Given the description of an element on the screen output the (x, y) to click on. 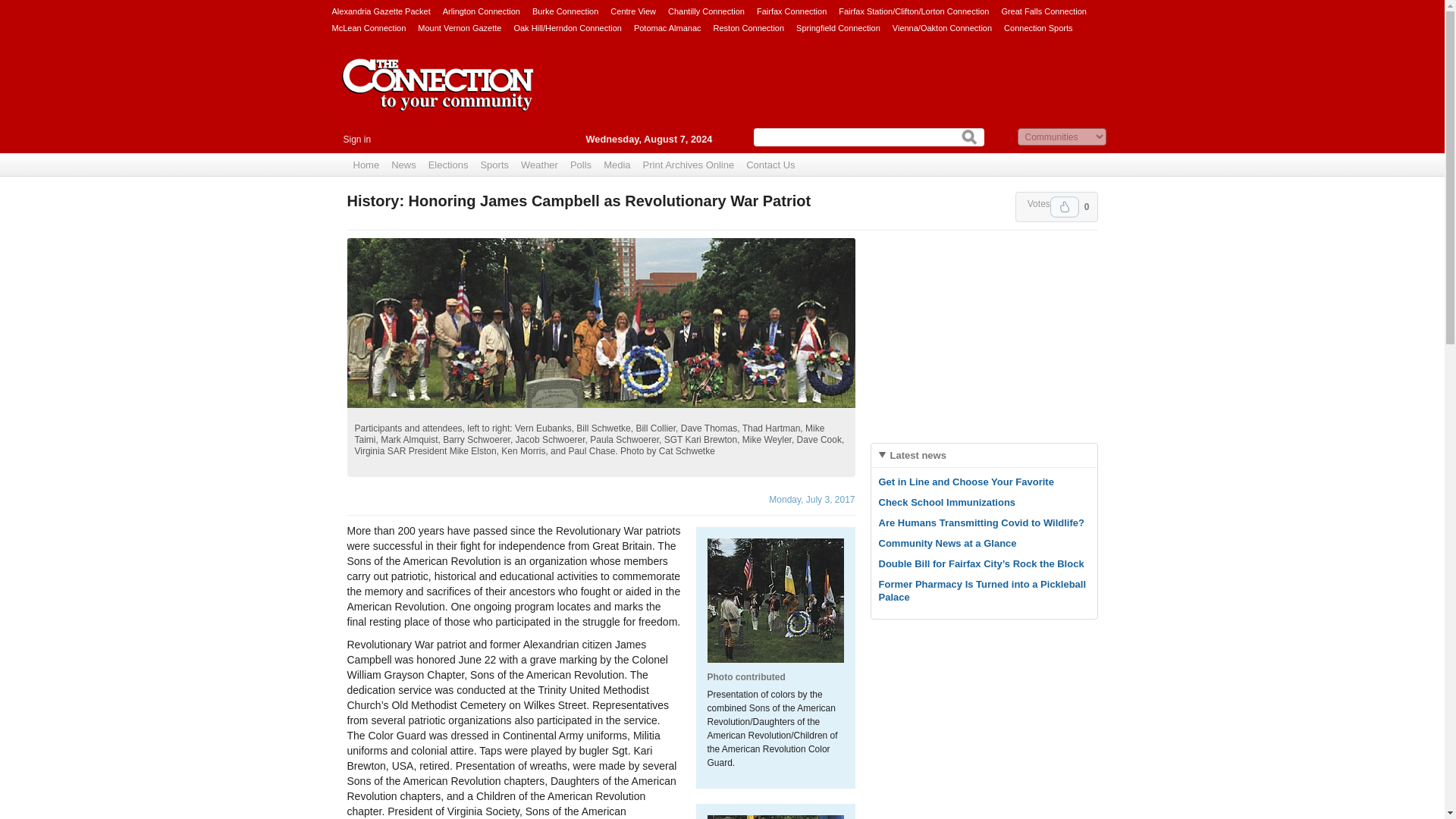
Sign in (356, 139)
Burke Connection (565, 11)
Arlington Connection (480, 11)
The Connection (437, 96)
Home (366, 164)
Chantilly Connection (706, 11)
McLean Connection (368, 27)
News (403, 164)
Connection Sports (1038, 27)
Springfield Connection (838, 27)
